Given the description of an element on the screen output the (x, y) to click on. 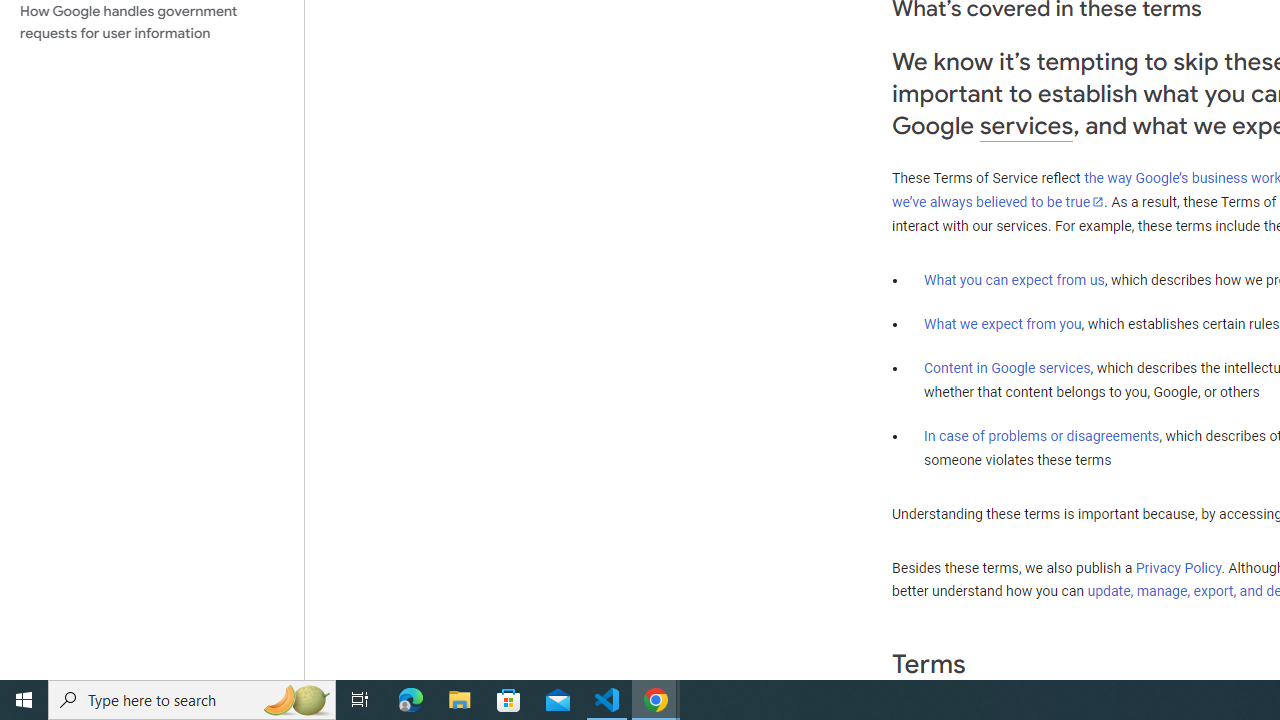
services (1026, 125)
What we expect from you (1002, 323)
In case of problems or disagreements (1041, 435)
Content in Google services (1007, 368)
What you can expect from us (1014, 279)
